Given the description of an element on the screen output the (x, y) to click on. 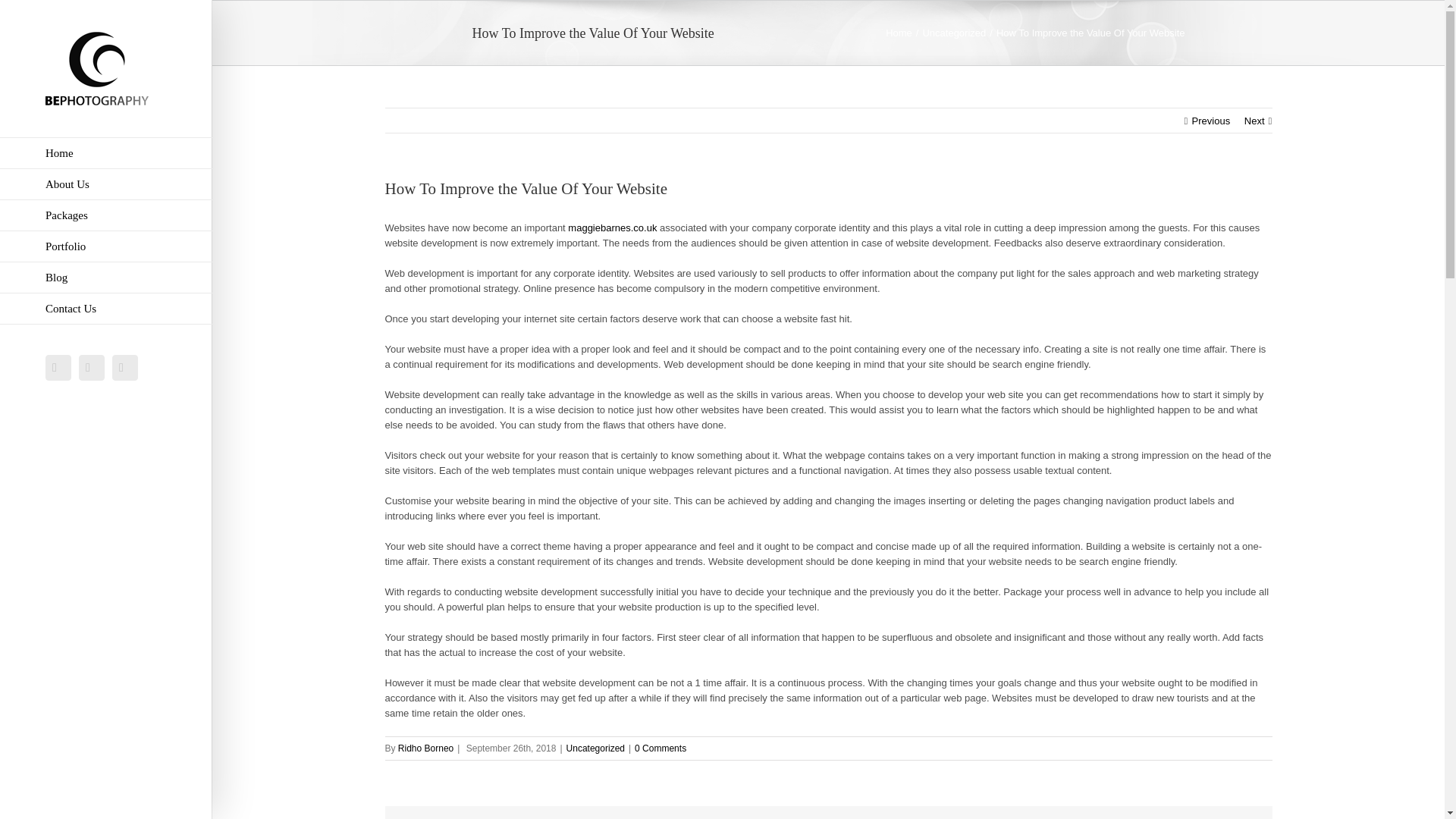
Facebook (58, 367)
Posts by Ridho Borneo (424, 747)
Ridho Borneo (424, 747)
Uncategorized (953, 32)
Uncategorized (595, 747)
Contact Us (106, 308)
Instagram (125, 367)
0 Comments (659, 747)
Twitter (91, 367)
Home (898, 32)
